Given the description of an element on the screen output the (x, y) to click on. 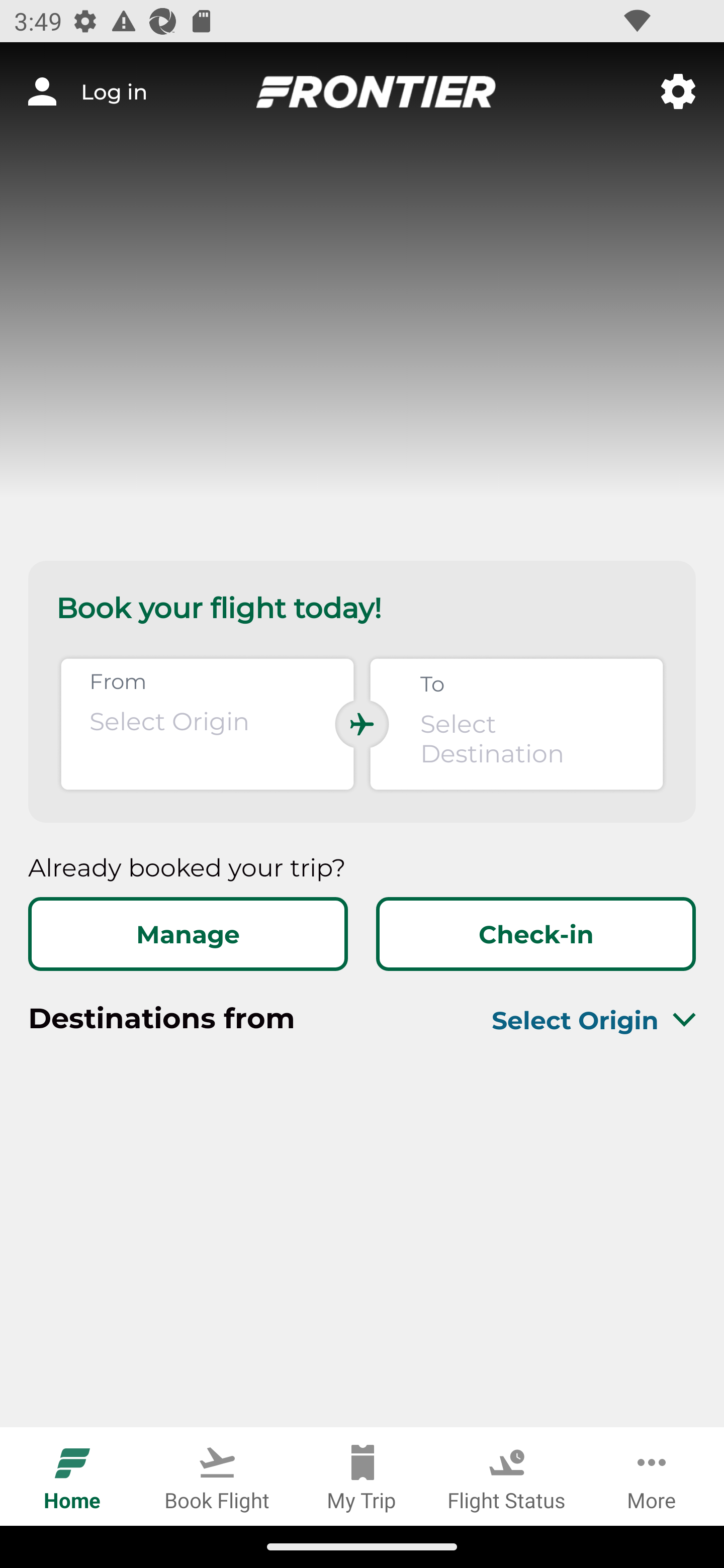
Log in (87, 91)
From Select Origin (207, 723)
To Select Destination (516, 723)
Manage (188, 933)
Check-in (535, 933)
Select Origin (570, 1019)
Book Flight (216, 1475)
My Trip (361, 1475)
Flight Status (506, 1475)
More (651, 1475)
